Given the description of an element on the screen output the (x, y) to click on. 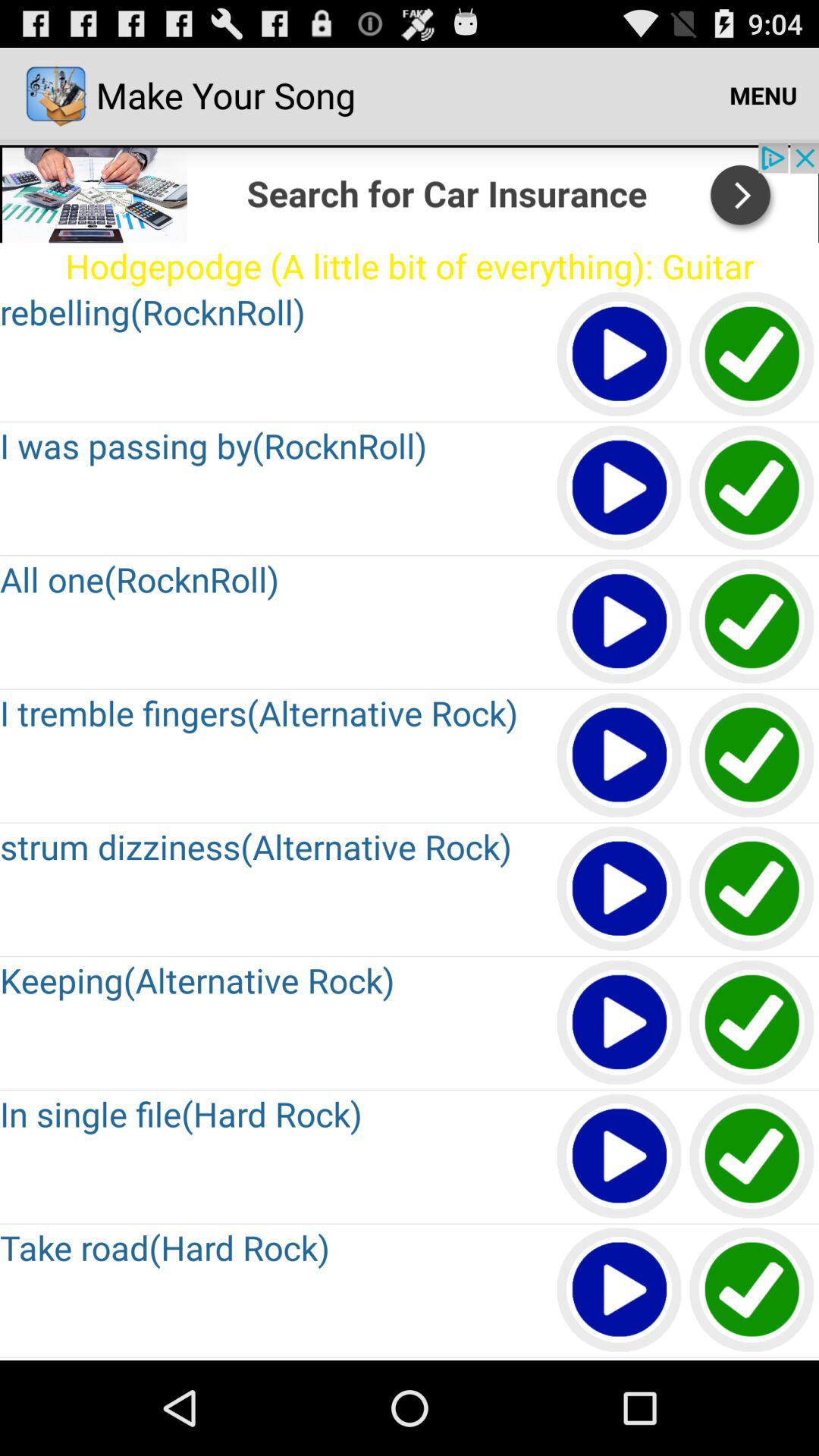
salt (752, 488)
